Given the description of an element on the screen output the (x, y) to click on. 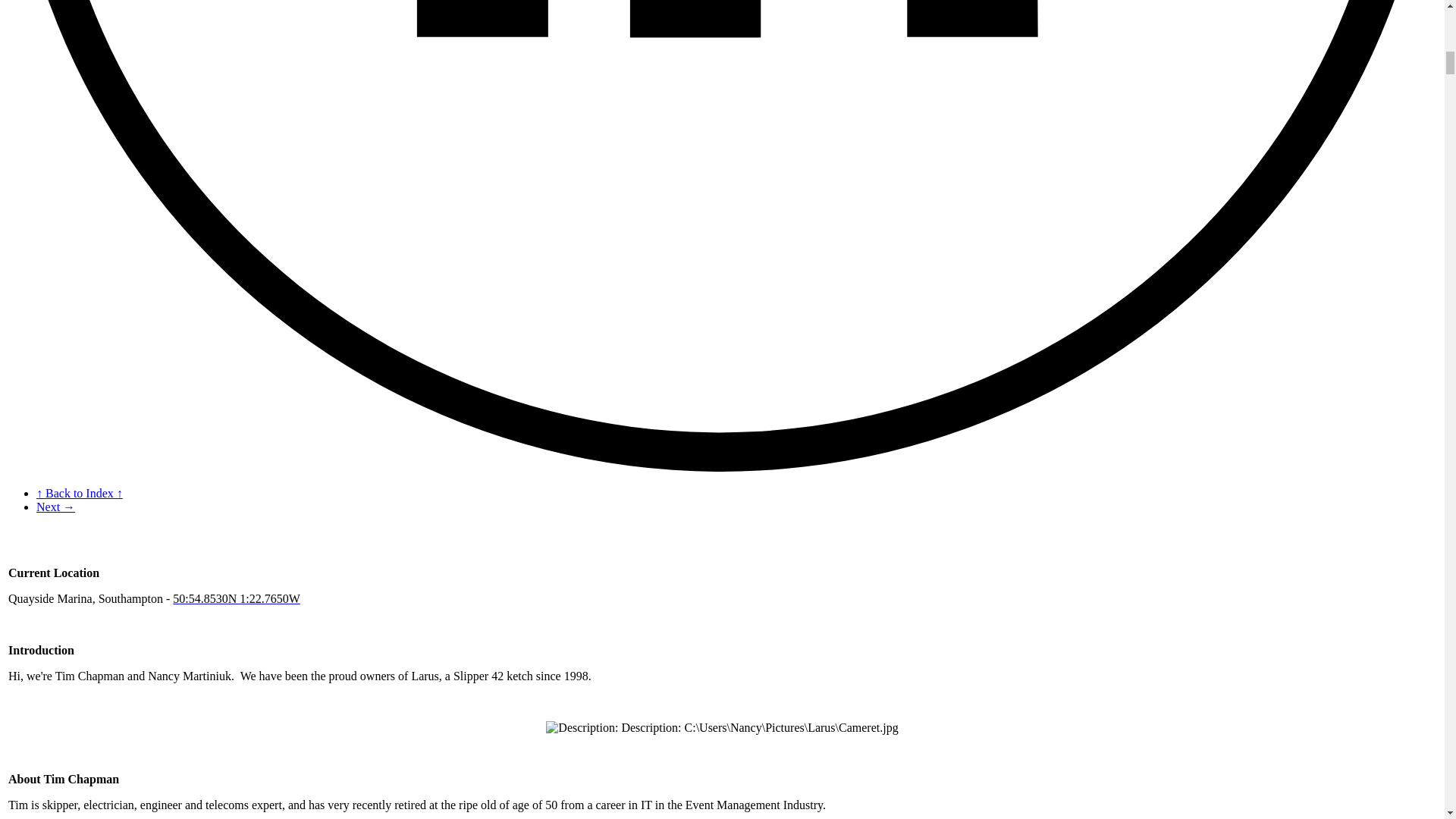
50:54.8530N 1:22.7650W (236, 598)
